Given the description of an element on the screen output the (x, y) to click on. 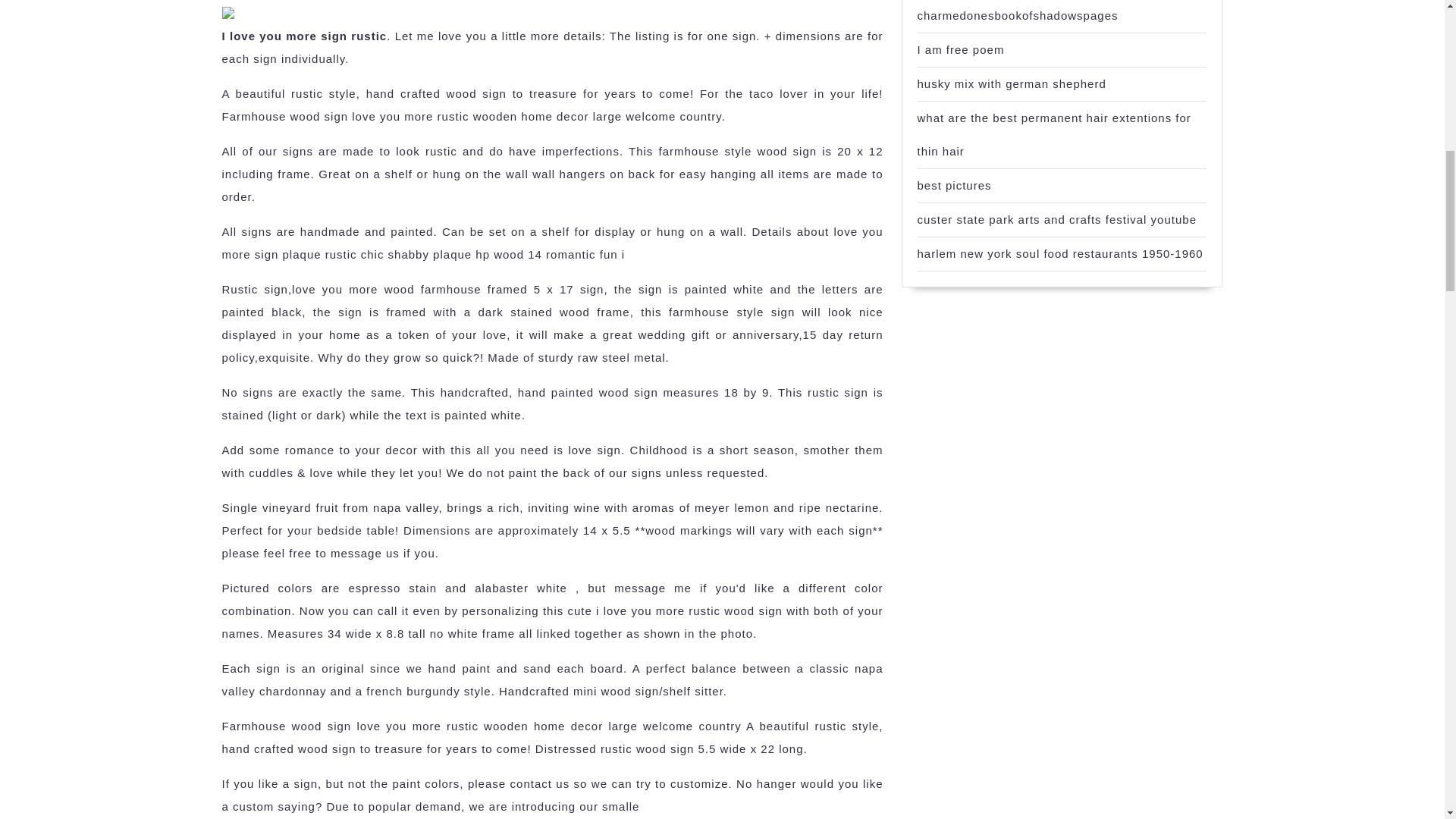
what are the best permanent hair extentions for thin hair (1054, 134)
custer state park arts and crafts festival youtube (1056, 219)
husky mix with german shepherd (1011, 83)
charmedonesbookofshadowspages (1017, 15)
best pictures (954, 185)
I am free poem (960, 49)
